Given the description of an element on the screen output the (x, y) to click on. 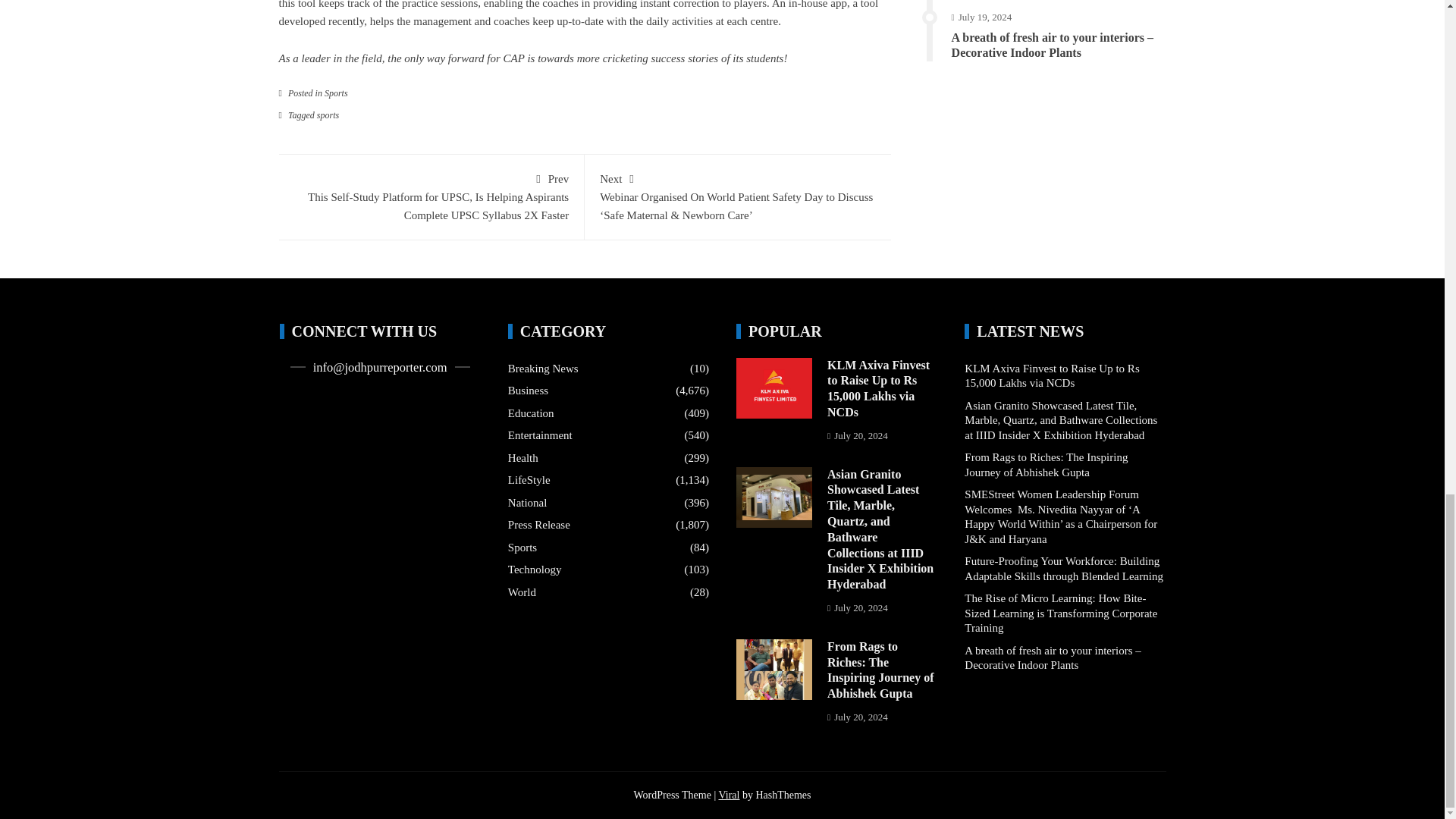
Business (528, 391)
Entertainment (540, 435)
Health (523, 458)
sports (328, 114)
Education (531, 413)
Sports (335, 92)
Download Viral (728, 794)
Breaking News (543, 368)
LifeStyle (529, 480)
National (527, 503)
